Given the description of an element on the screen output the (x, y) to click on. 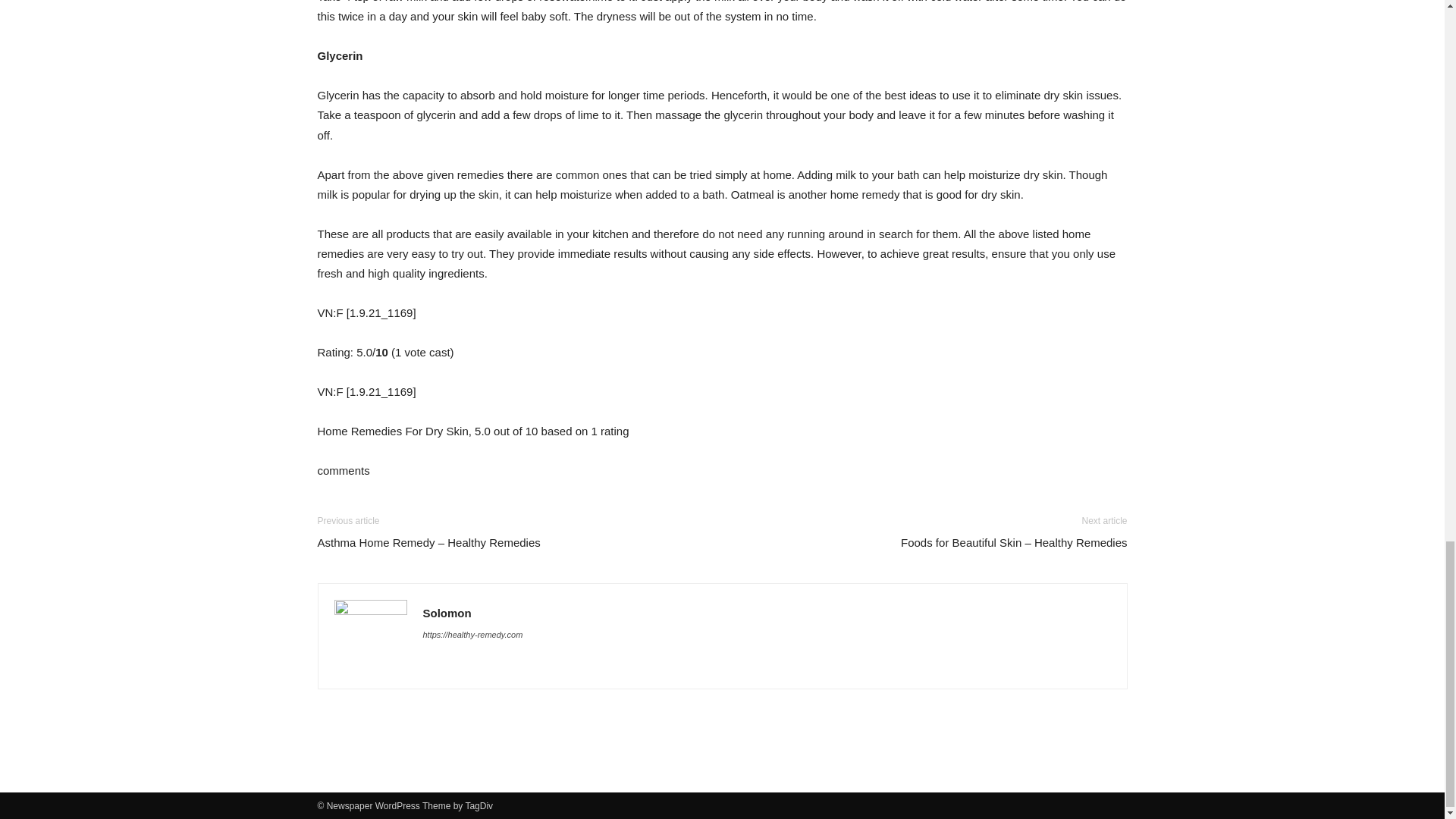
Solomon (447, 612)
